Given the description of an element on the screen output the (x, y) to click on. 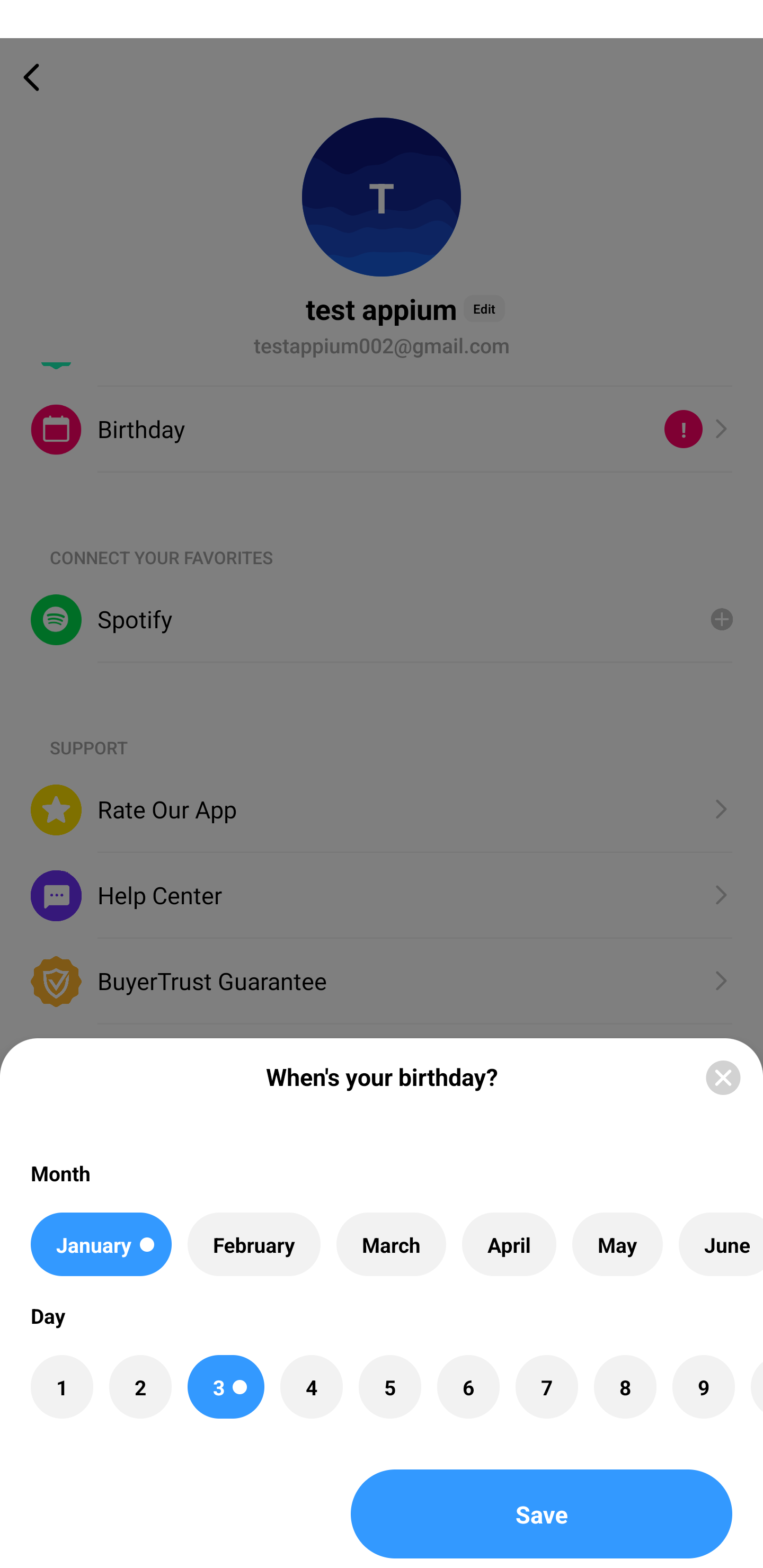
January (100, 1244)
February (253, 1244)
March (391, 1244)
April (509, 1244)
May (617, 1244)
June (721, 1244)
1 (61, 1386)
2 (140, 1386)
3 (225, 1386)
4 (311, 1386)
5 (389, 1386)
6 (468, 1386)
7 (546, 1386)
8 (624, 1386)
9 (703, 1386)
Save (541, 1513)
